Given the description of an element on the screen output the (x, y) to click on. 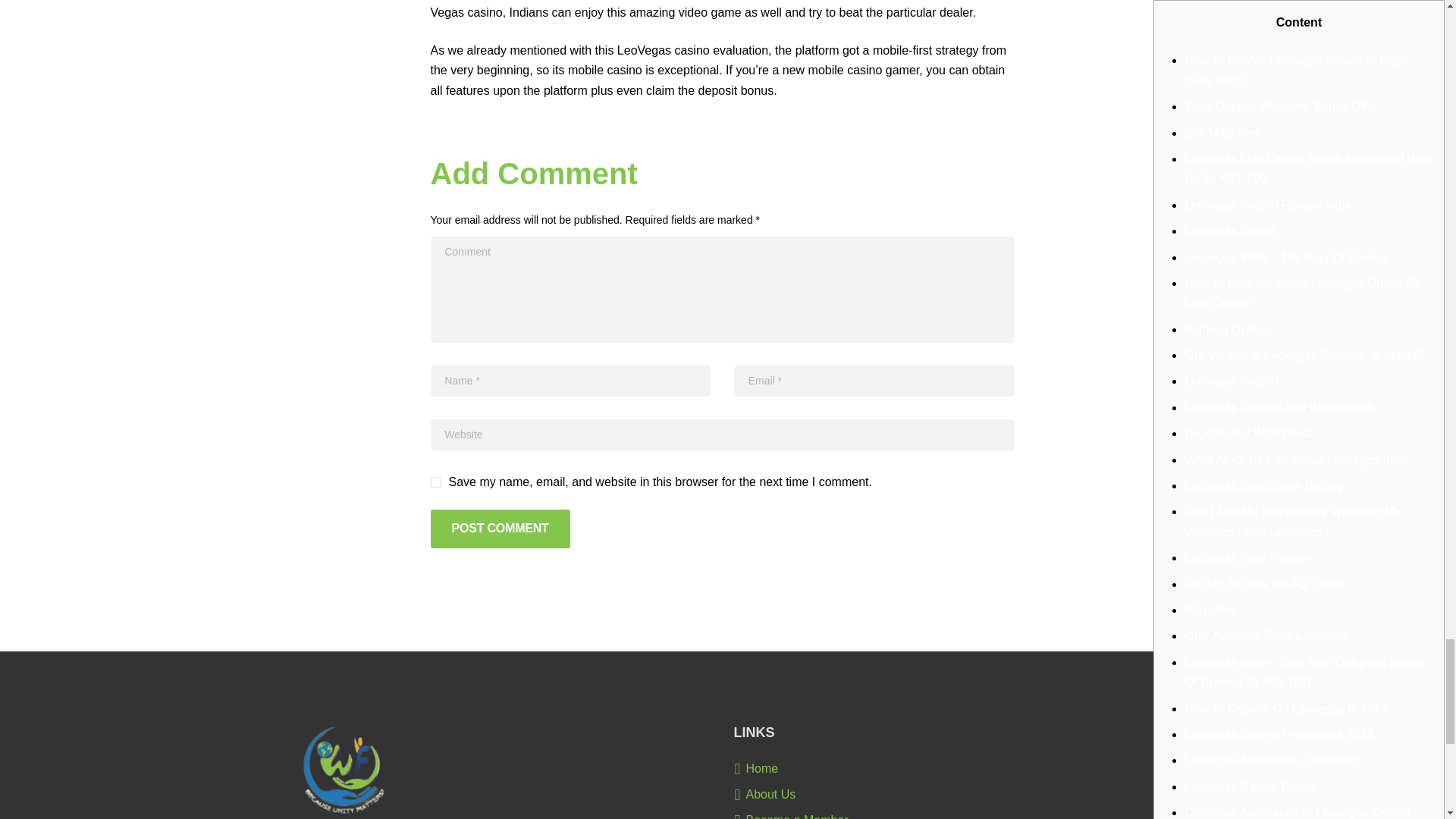
Post Comment (500, 528)
